Given the description of an element on the screen output the (x, y) to click on. 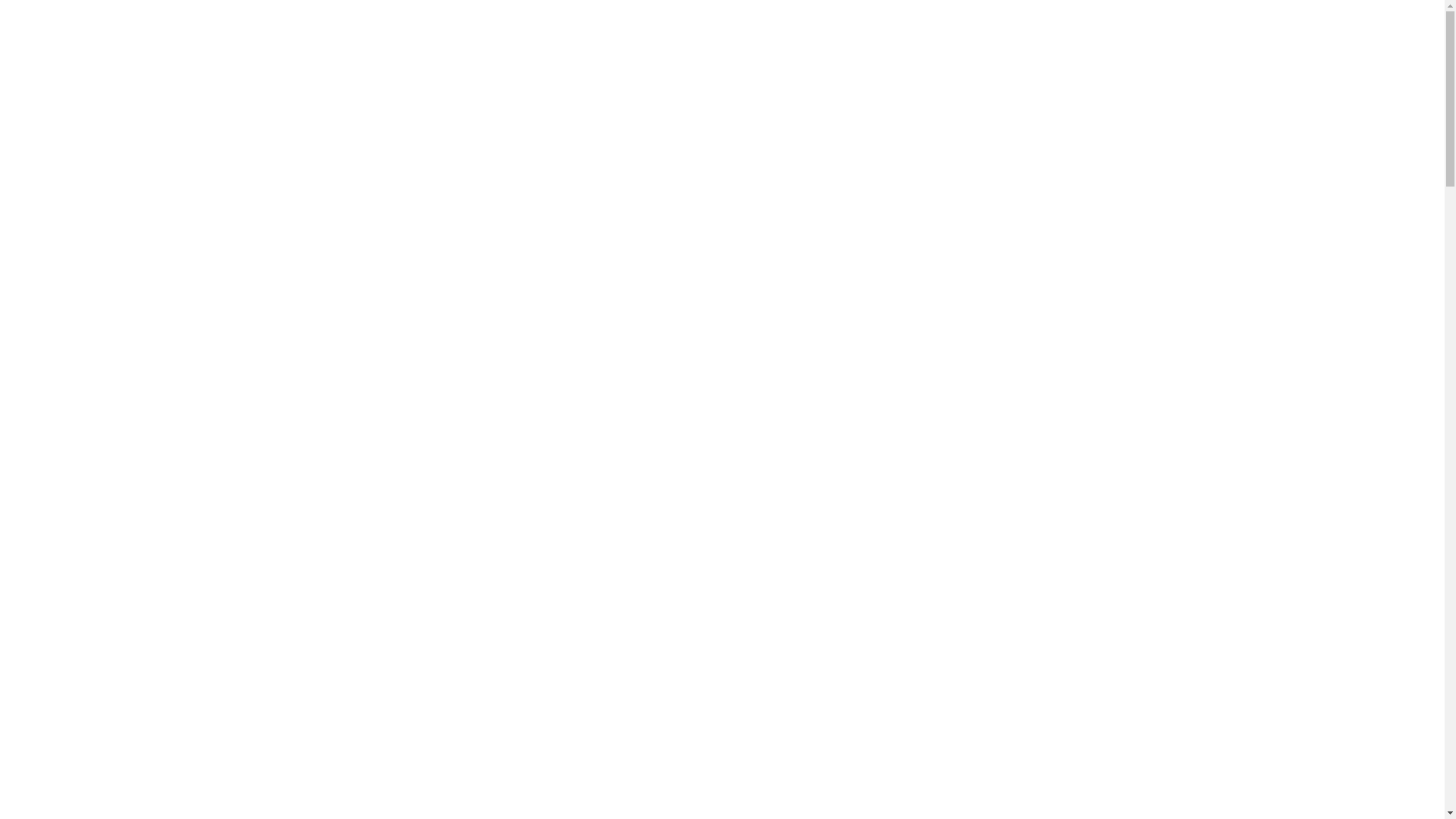
RACV Pre Purchase Vehicle Inspections Element type: text (179, 679)
Log Book Service Element type: text (114, 664)
Contact Us Element type: text (68, 725)
About Us Element type: text (61, 512)
Our Services Element type: text (71, 528)
About Us Element type: text (103, 175)
RACV Pre Purchase Vehicle Inspections Element type: text (191, 343)
Car Aircon Regas Element type: text (129, 236)
Car Service Element type: text (99, 634)
Car Aircon Regas Element type: text (117, 573)
Tyres Element type: text (80, 694)
Log Book Service Element type: text (126, 327)
Car Mechanic Element type: text (108, 588)
Car Service Element type: text (111, 297)
Child Seat Installations Element type: text (142, 312)
Moolap Car Care -  Element type: hover (71, 98)
Car Mechanic Element type: text (120, 252)
Car Repairs Element type: text (111, 267)
Air Conditioning Services Element type: text (137, 543)
Air Conditioning Services Element type: text (149, 206)
Brake Repairs Element type: text (117, 221)
Home Element type: text (94, 159)
Clutch Repairs Element type: text (120, 282)
Home Element type: text (53, 497)
Car Repairs Element type: text (100, 603)
Child Seat Installations Element type: text (130, 649)
Contact Us Element type: text (111, 404)
Brake Repairs Element type: text (105, 558)
Wheel Alignment Element type: text (116, 710)
Wheel Alignment Element type: text (127, 373)
Tyres Element type: text (92, 358)
Our Services Element type: text (114, 190)
(03) 5248 5530 Element type: text (138, 465)
Clutch Repairs Element type: text (108, 619)
